Given the description of an element on the screen output the (x, y) to click on. 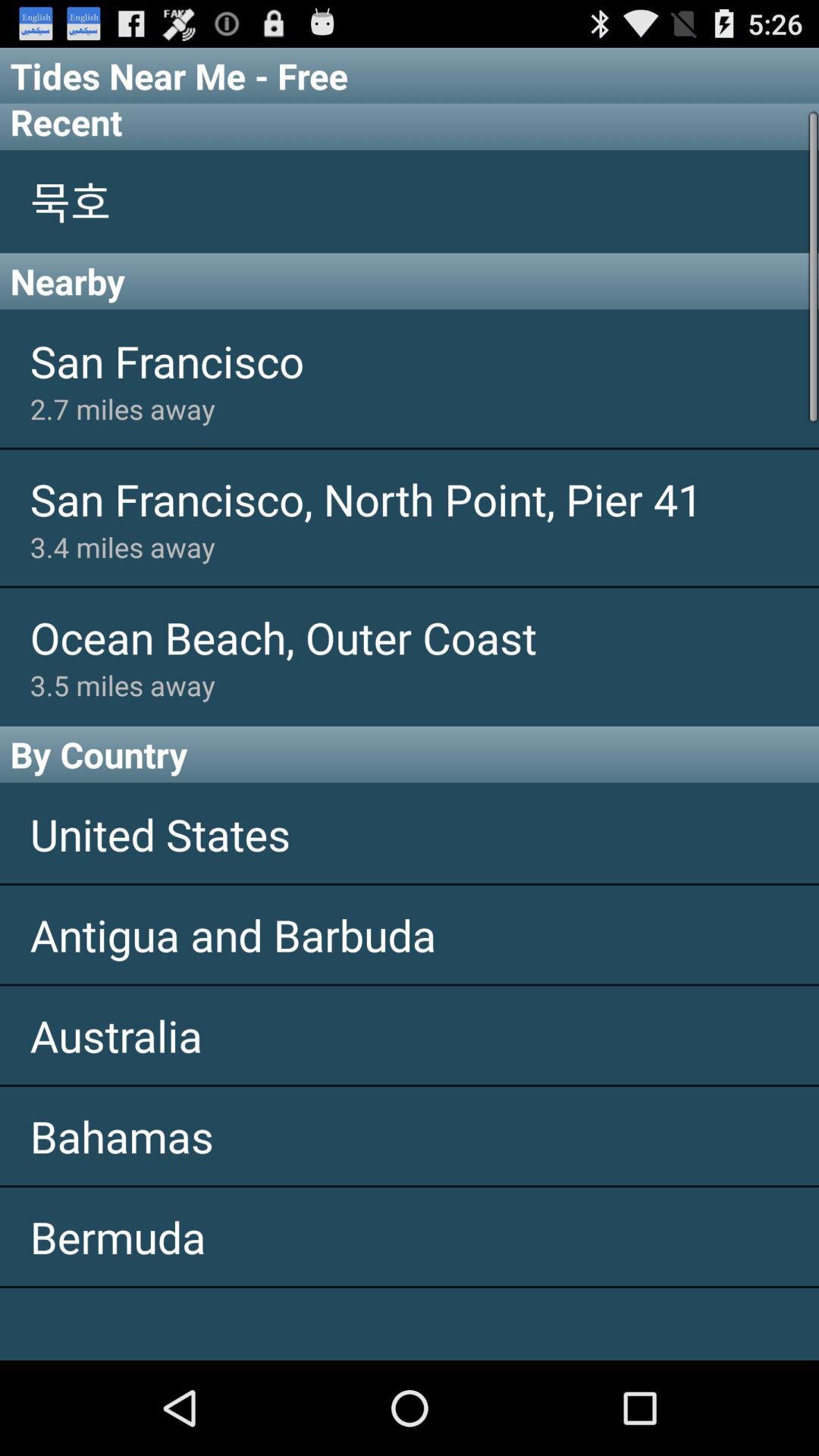
select icon above the united states app (409, 754)
